Given the description of an element on the screen output the (x, y) to click on. 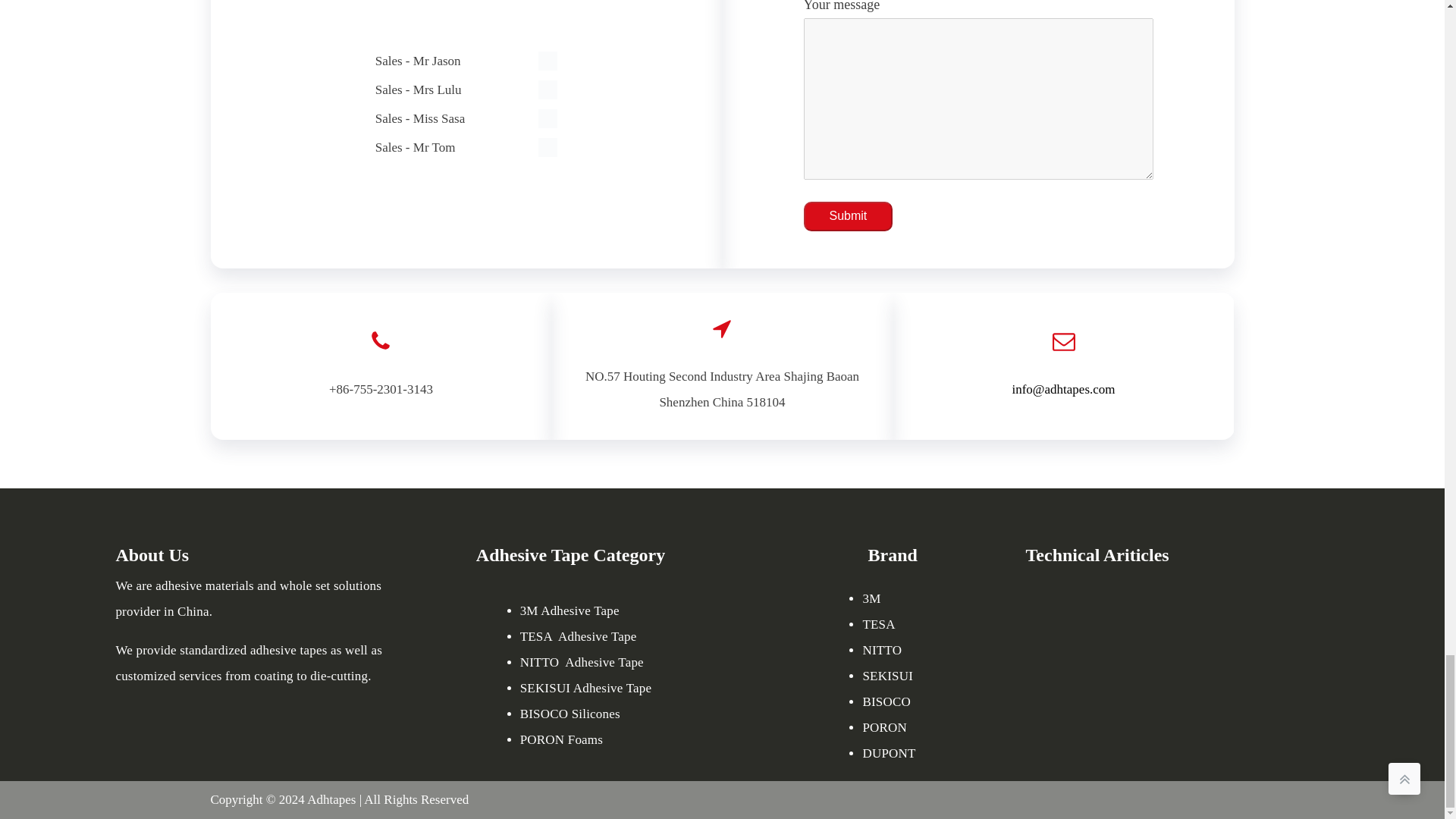
Submit (848, 215)
Submit (848, 215)
